Given the description of an element on the screen output the (x, y) to click on. 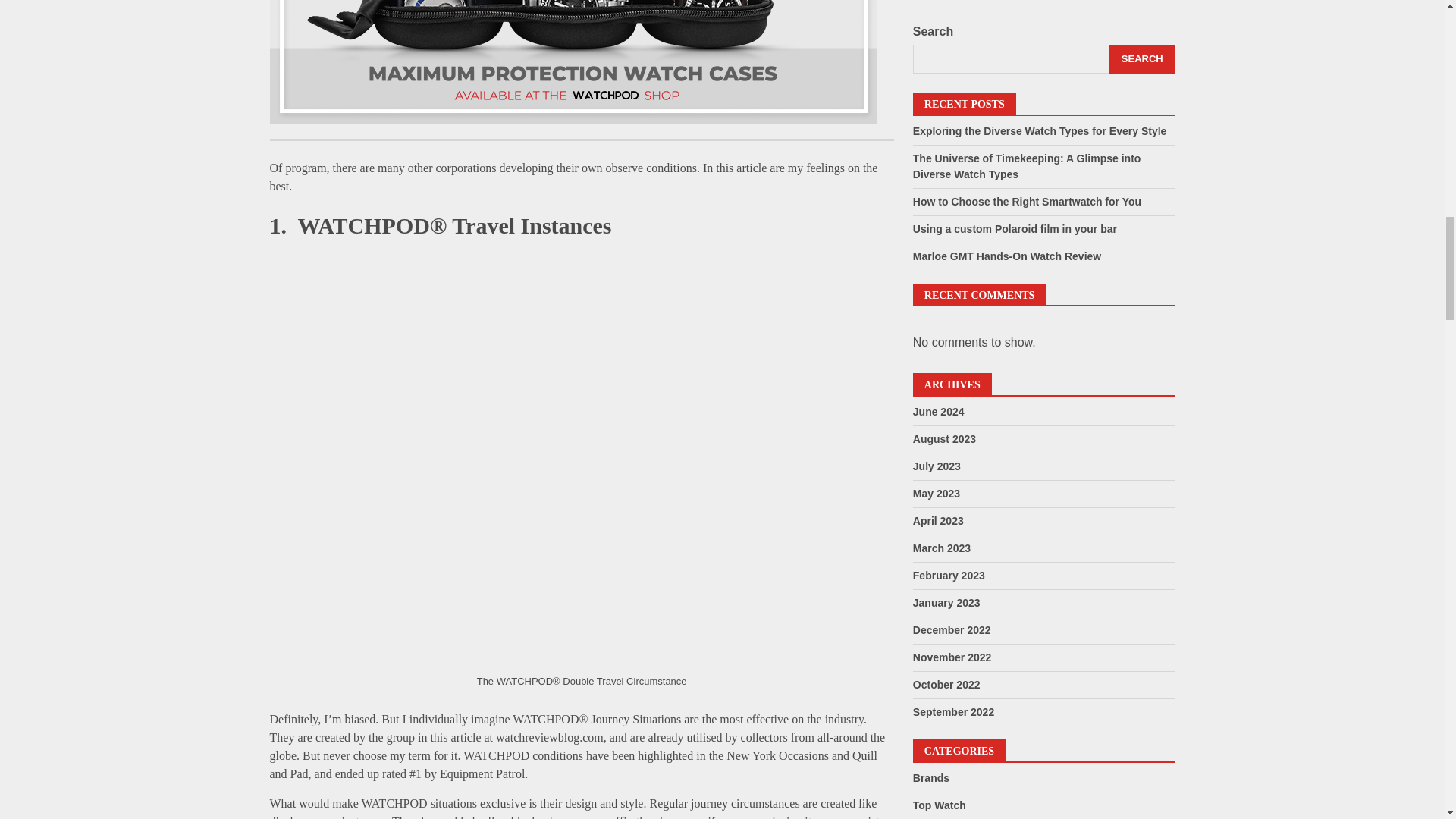
Quill and Pad (573, 764)
New York Occasions (777, 755)
Equipment Patrol (481, 773)
